Given the description of an element on the screen output the (x, y) to click on. 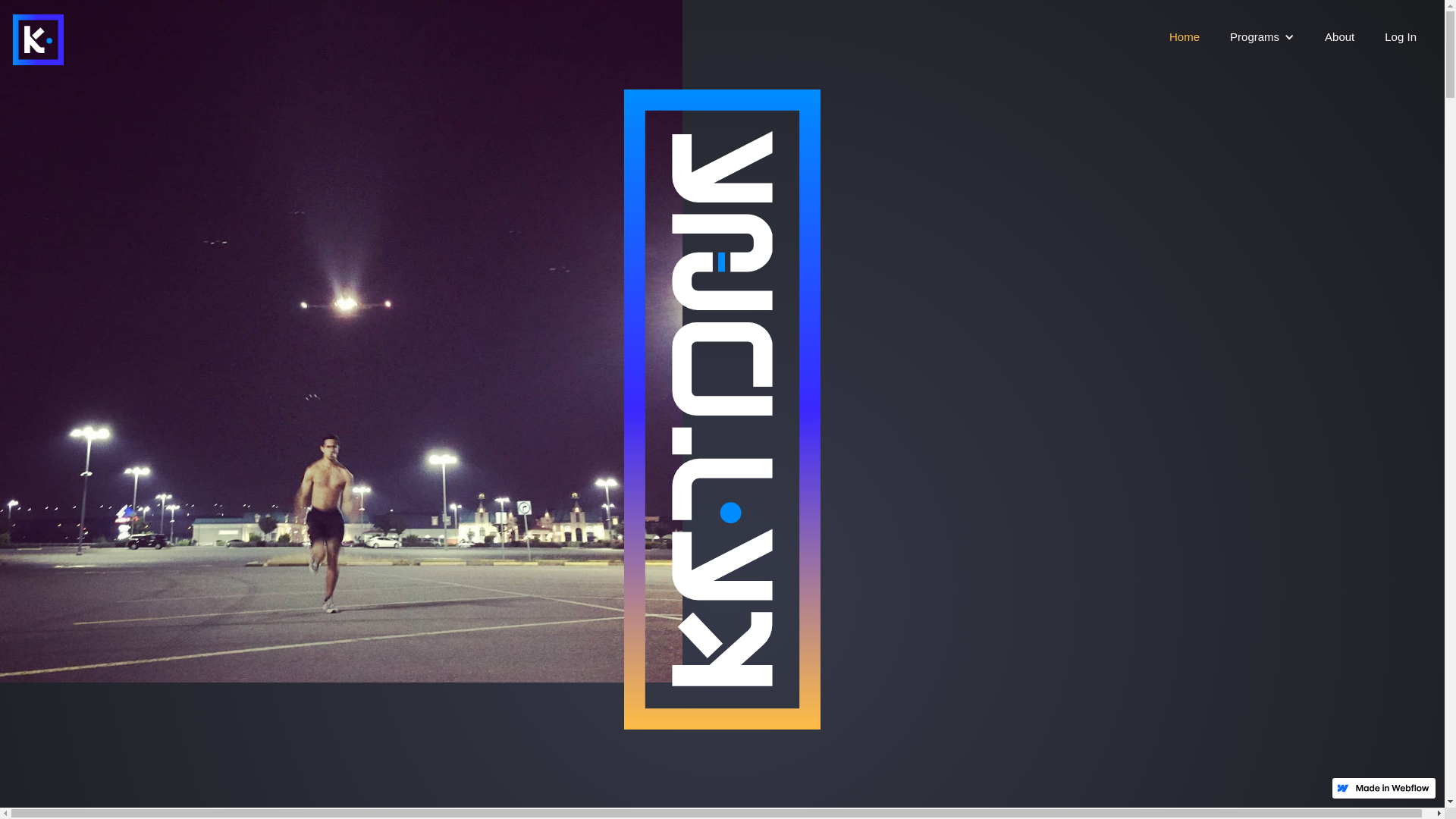
About Element type: text (1339, 36)
Log In Element type: text (1400, 36)
Home Element type: text (1184, 36)
